Given the description of an element on the screen output the (x, y) to click on. 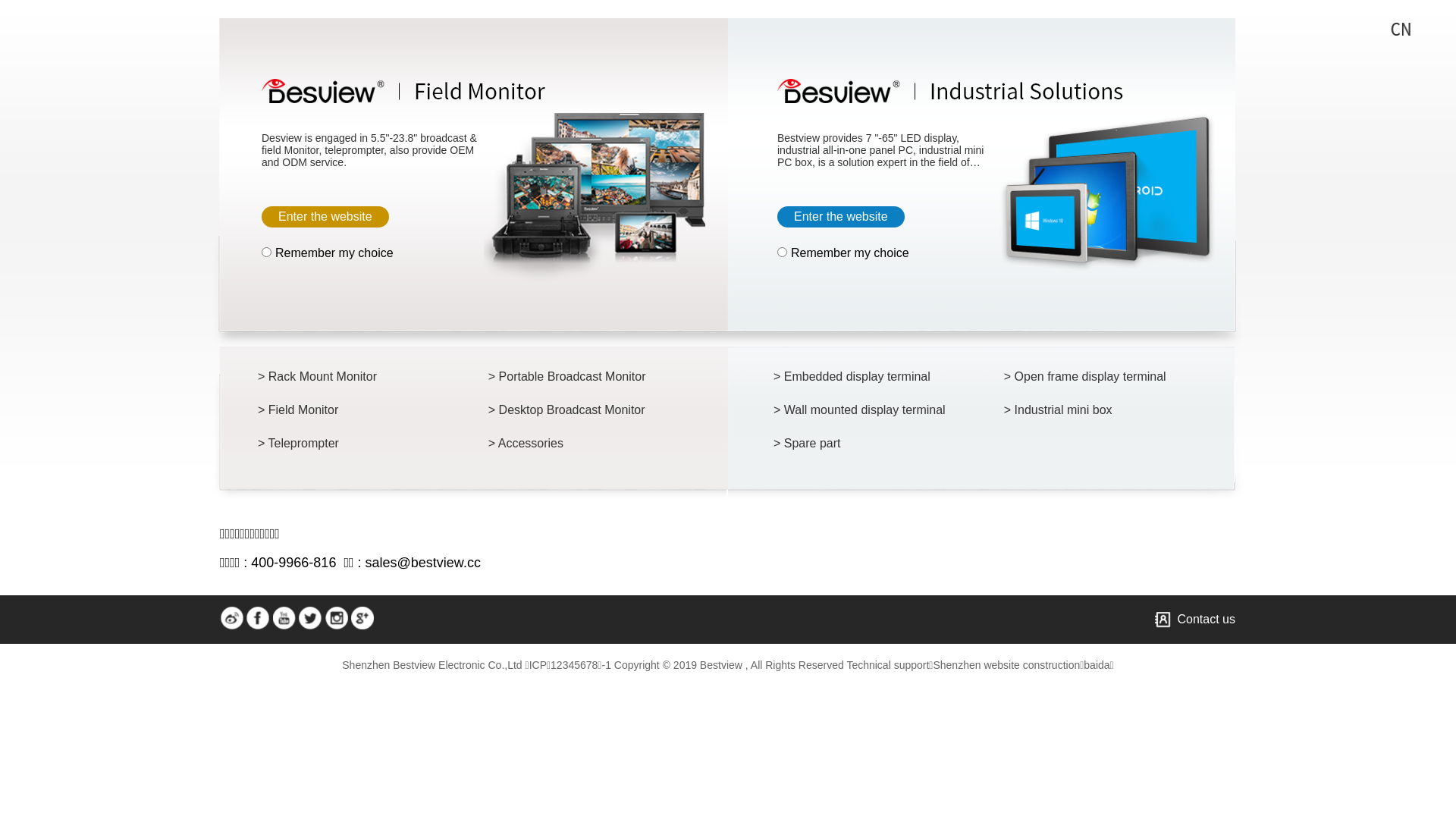
> Desktop Broadcast Monitor Element type: text (578, 409)
> Embedded display terminal Element type: text (863, 376)
> Teleprompter Element type: text (347, 443)
> Wall mounted display terminal Element type: text (863, 409)
> Accessories Element type: text (578, 443)
> Rack Mount Monitor Element type: text (347, 376)
> Field Monitor Element type: text (347, 409)
> Portable Broadcast Monitor Element type: text (578, 376)
> Spare part Element type: text (863, 443)
> Open frame display terminal Element type: text (1093, 376)
Shenzhen Bestview Electronic Co.,Ltd Element type: text (431, 664)
Enter the website Element type: text (325, 216)
> Industrial mini box Element type: text (1093, 409)
Enter the website Element type: text (840, 216)
